Given the description of an element on the screen output the (x, y) to click on. 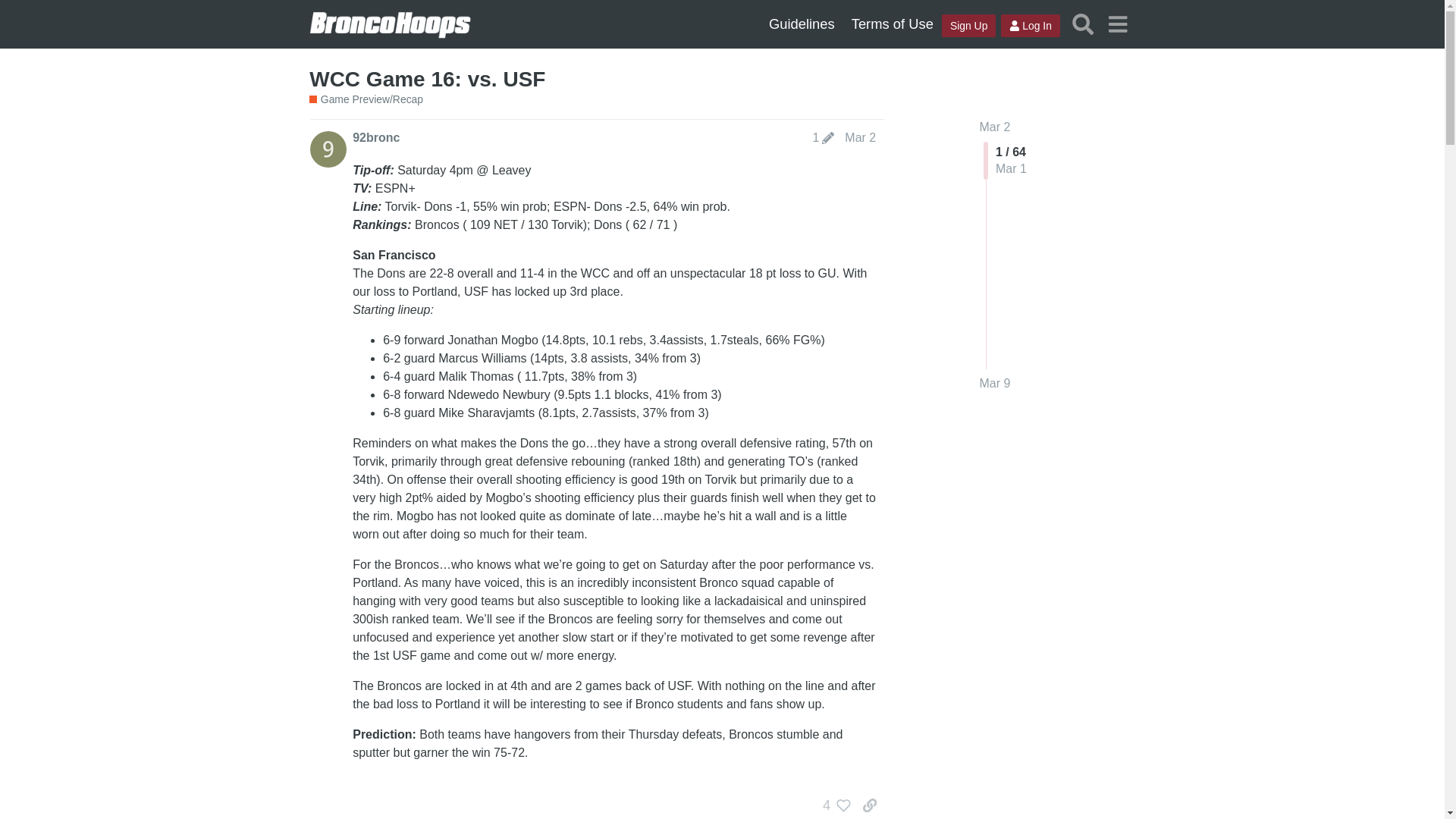
92bronc (375, 137)
Jump to the first post (994, 126)
Log In (1030, 25)
Mar 9 (994, 383)
4 people liked this post (832, 805)
Post date (860, 137)
menu (1117, 23)
4 (832, 805)
1 (823, 137)
Sign Up (968, 25)
WCC Game 16: vs. USF (426, 78)
copy a link to this post to clipboard (869, 805)
Guidelines (801, 23)
Jump to the last post (994, 382)
Our Guidelines (801, 23)
